Given the description of an element on the screen output the (x, y) to click on. 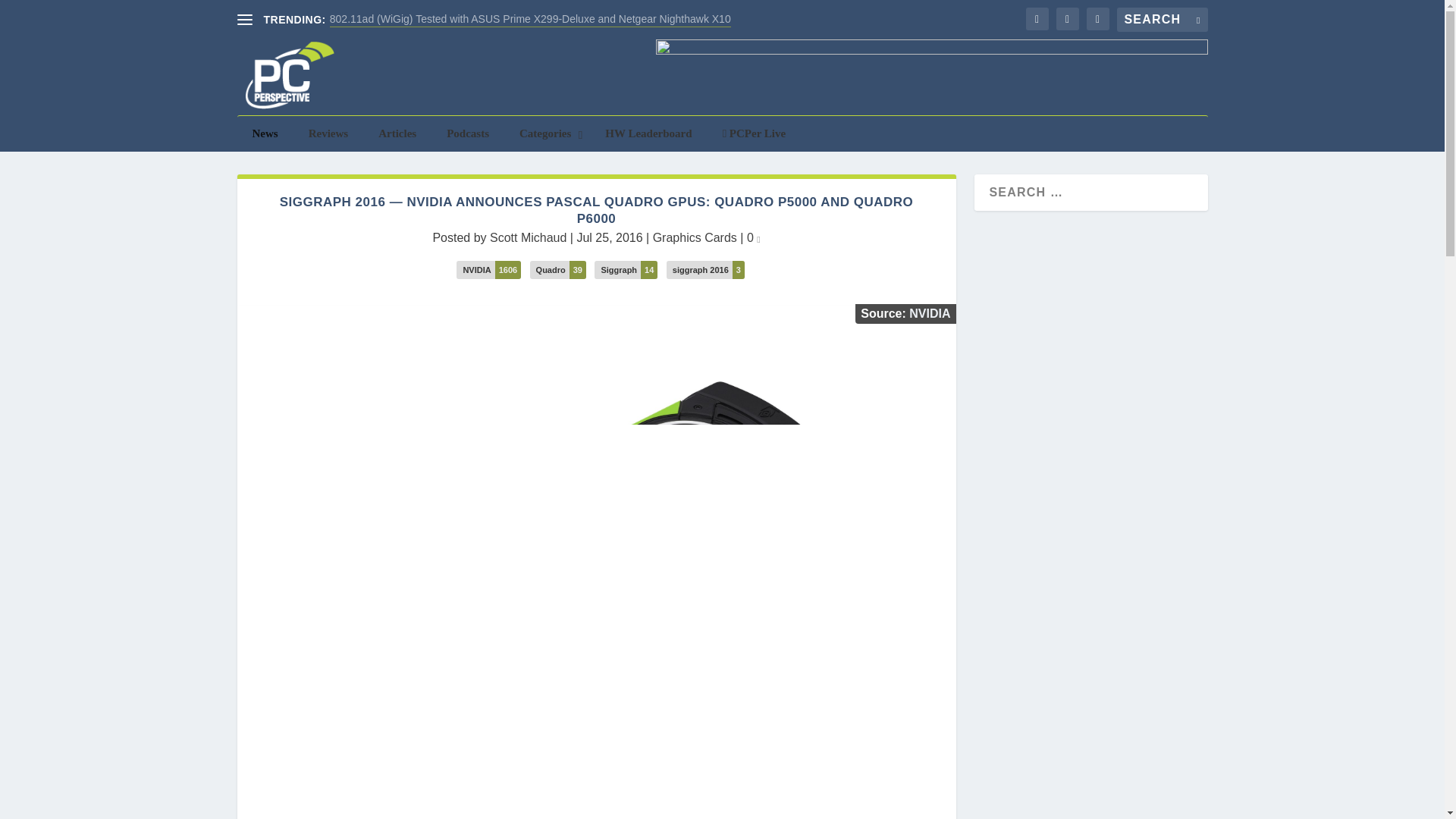
News (263, 133)
PCPer Live (754, 133)
Reviews (329, 133)
Search for: (1161, 19)
Podcasts (466, 133)
Articles (396, 133)
Categories (546, 133)
HW Leaderboard (647, 133)
Posts by Scott Michaud (527, 237)
